Given the description of an element on the screen output the (x, y) to click on. 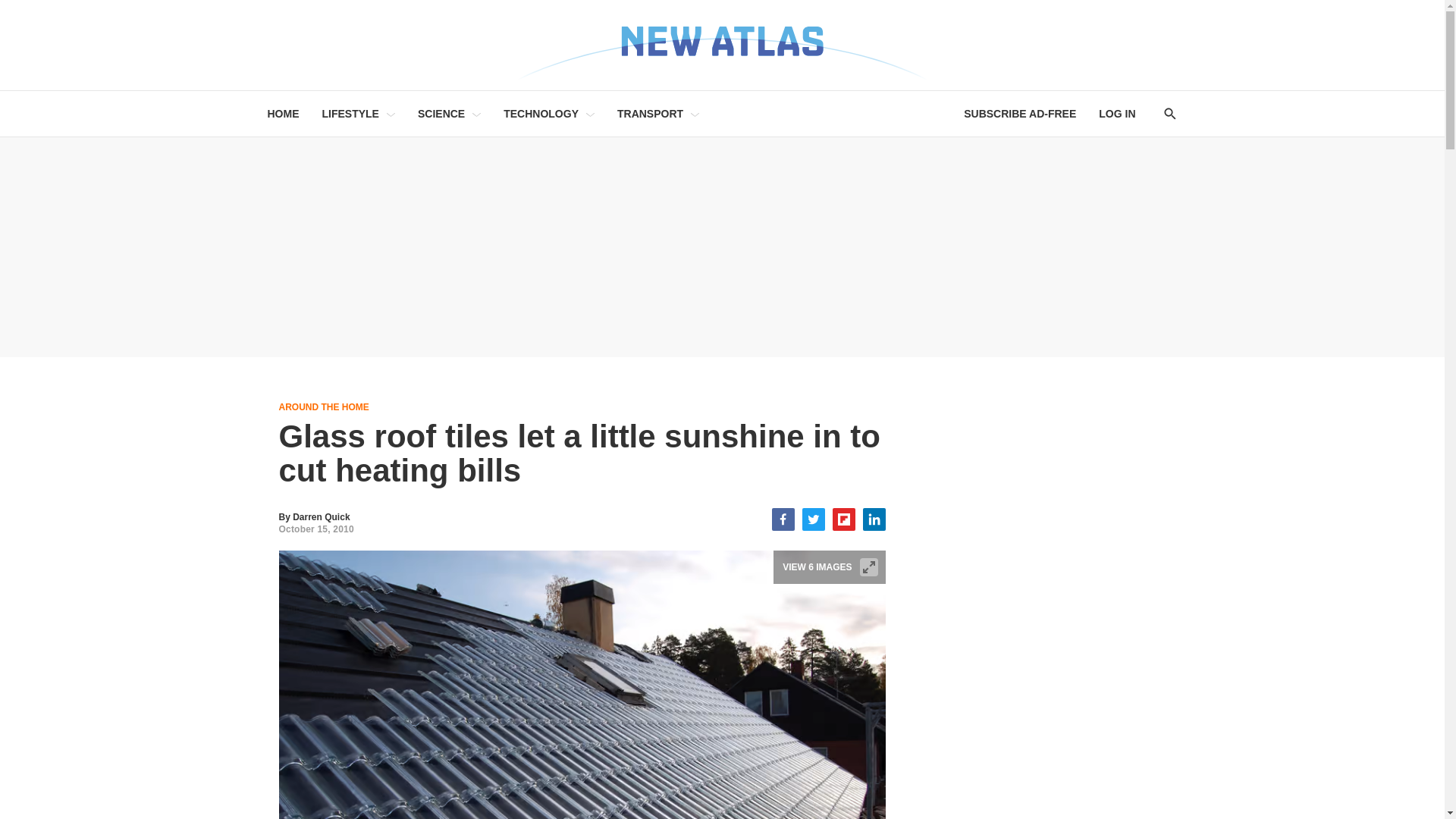
View full-screen (868, 566)
